Given the description of an element on the screen output the (x, y) to click on. 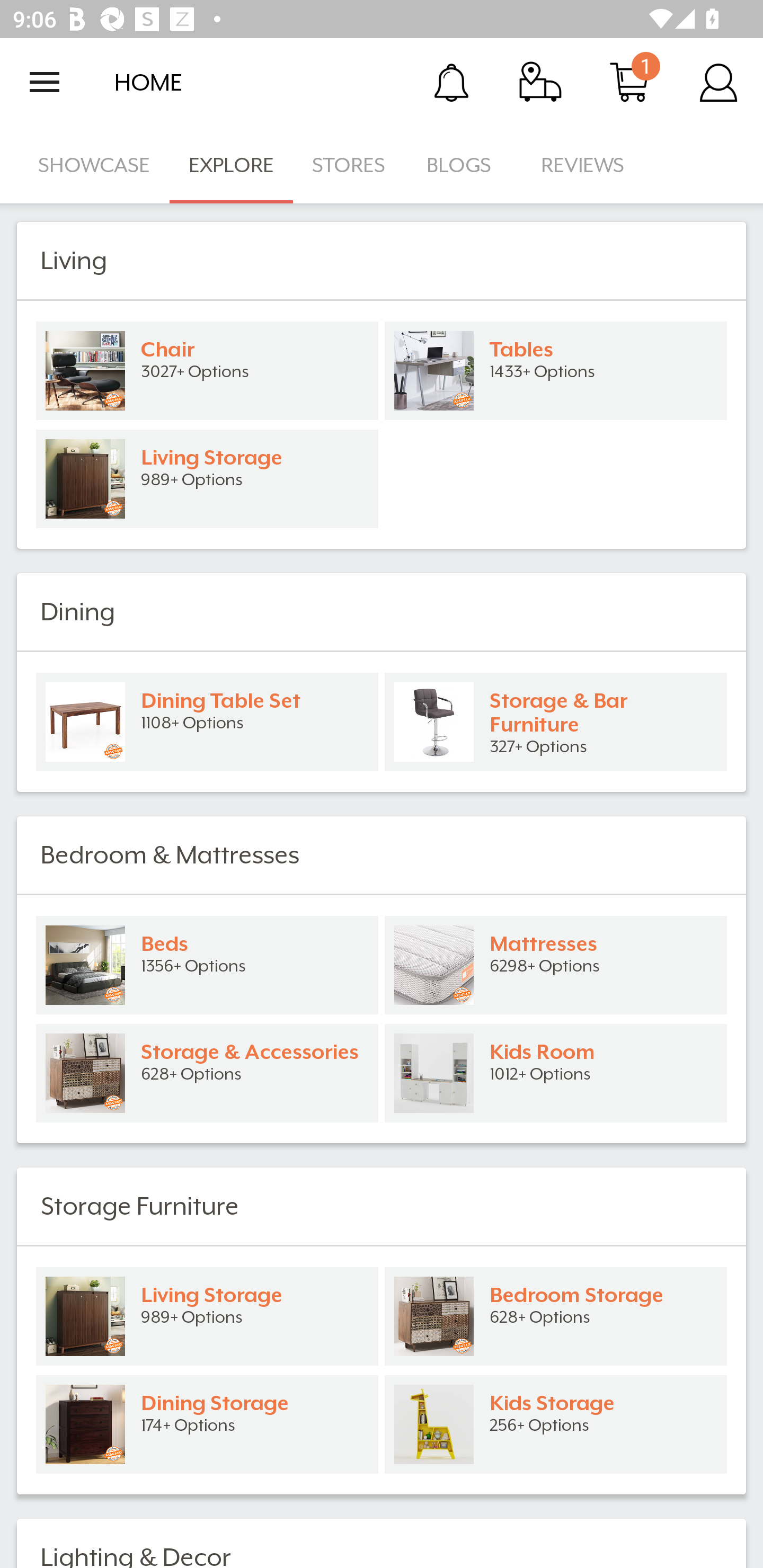
Open navigation drawer (44, 82)
Notification (450, 81)
Track Order (540, 81)
Cart (629, 81)
Account Details (718, 81)
SHOWCASE (94, 165)
EXPLORE (230, 165)
STORES (349, 165)
BLOGS (464, 165)
REVIEWS (582, 165)
Chair 3027+ Options (206, 370)
Tables 1433+ Options (555, 370)
Living Storage 989+ Options (206, 478)
Dining Table Set 1108+ Options (206, 721)
Storage & Bar Furniture 327+ Options (555, 721)
Beds 1356+ Options (206, 965)
Mattresses 6298+ Options (555, 965)
Storage & Accessories 628+ Options (206, 1073)
Kids Room 1012+ Options (555, 1073)
Living Storage 989+ Options (206, 1316)
Bedroom Storage 628+ Options (555, 1316)
Dining Storage 174+ Options (206, 1424)
Kids Storage 256+ Options (555, 1424)
